Given the description of an element on the screen output the (x, y) to click on. 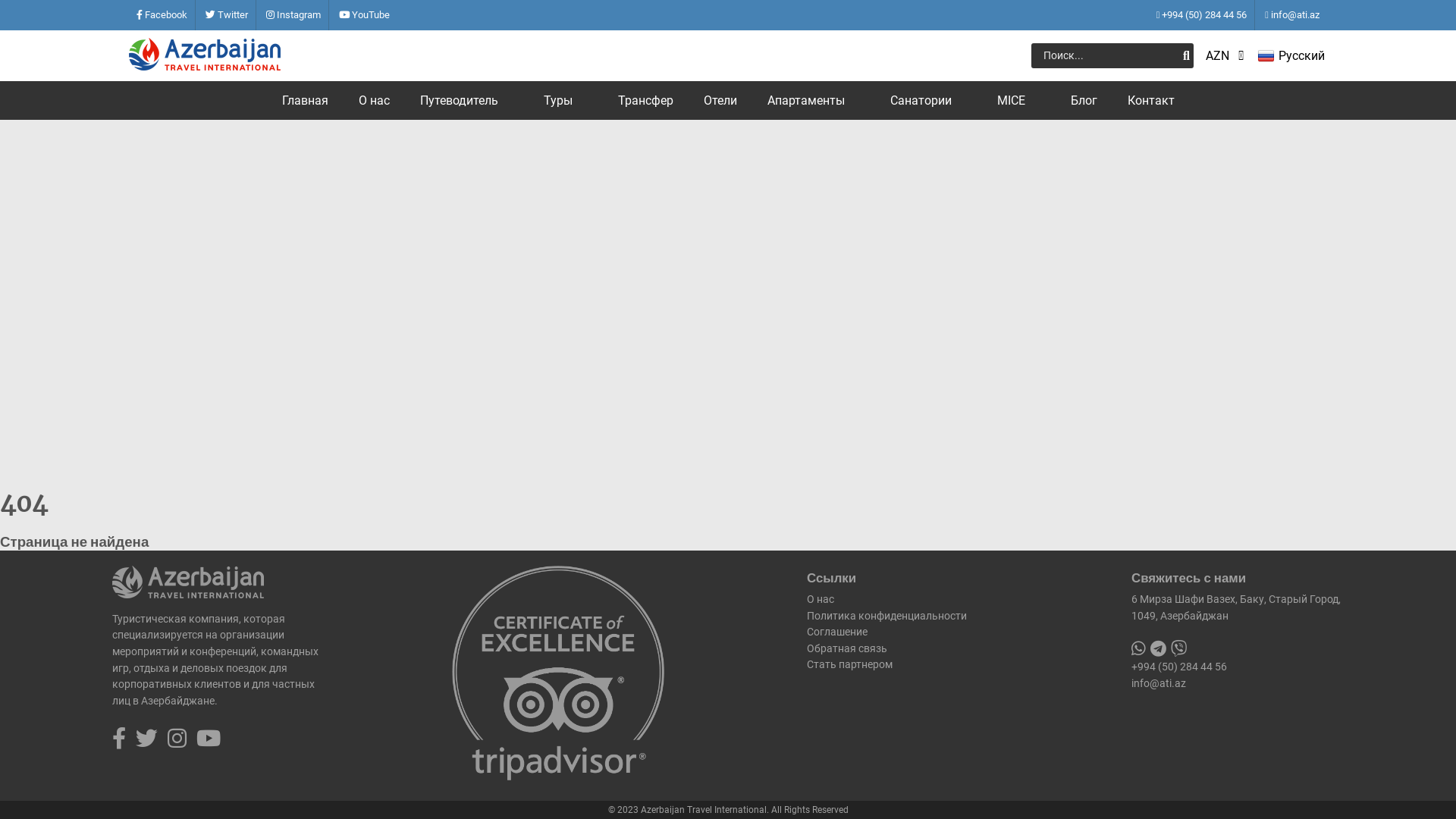
Azerbaijan Travel International Element type: hover (204, 66)
MICE Element type: text (1017, 100)
Twitter Element type: text (226, 14)
YouTube Element type: text (363, 14)
Facebook Element type: text (161, 14)
Instagram Element type: text (293, 14)
